Given the description of an element on the screen output the (x, y) to click on. 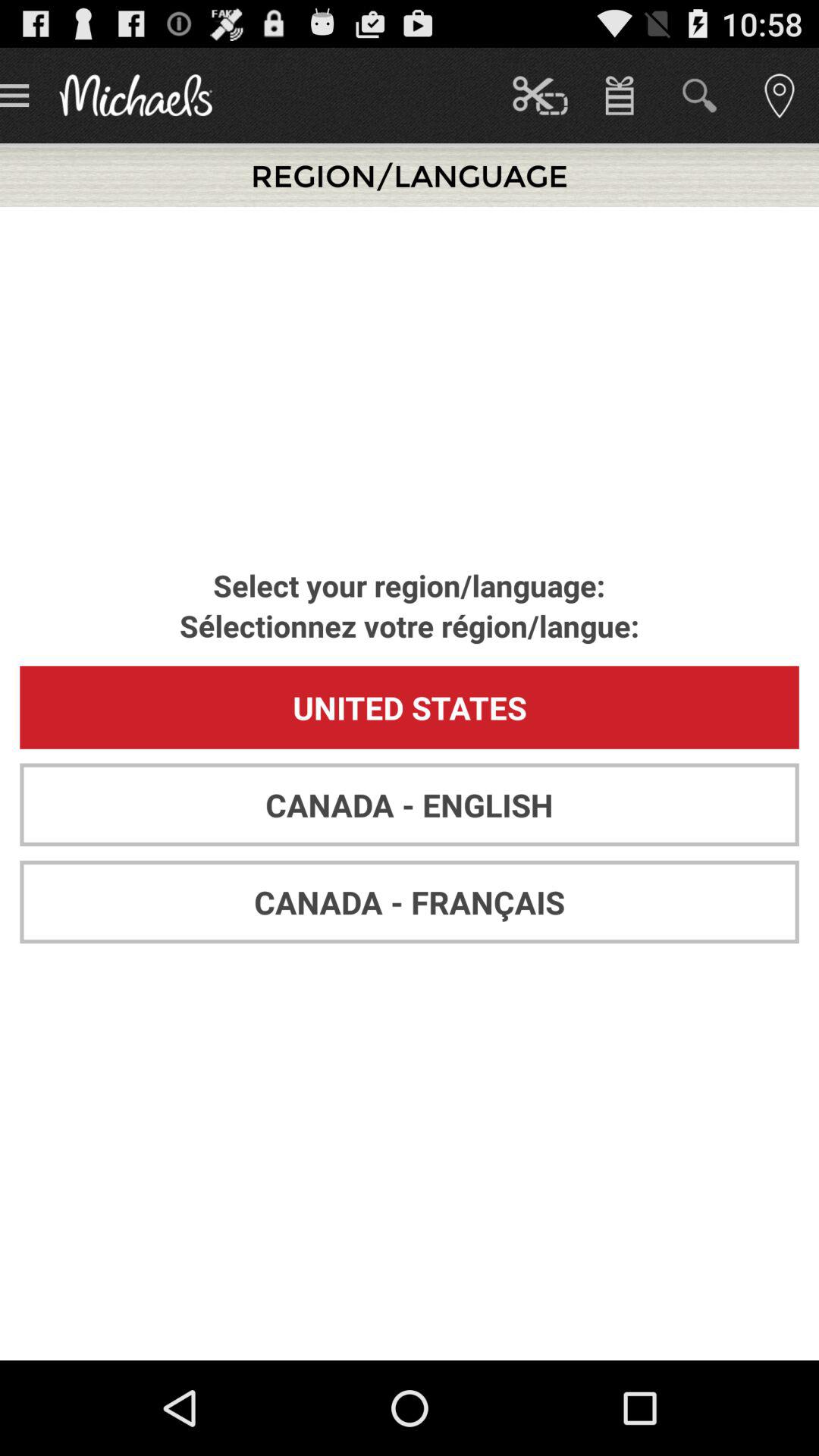
launch the app below united states (409, 804)
